Given the description of an element on the screen output the (x, y) to click on. 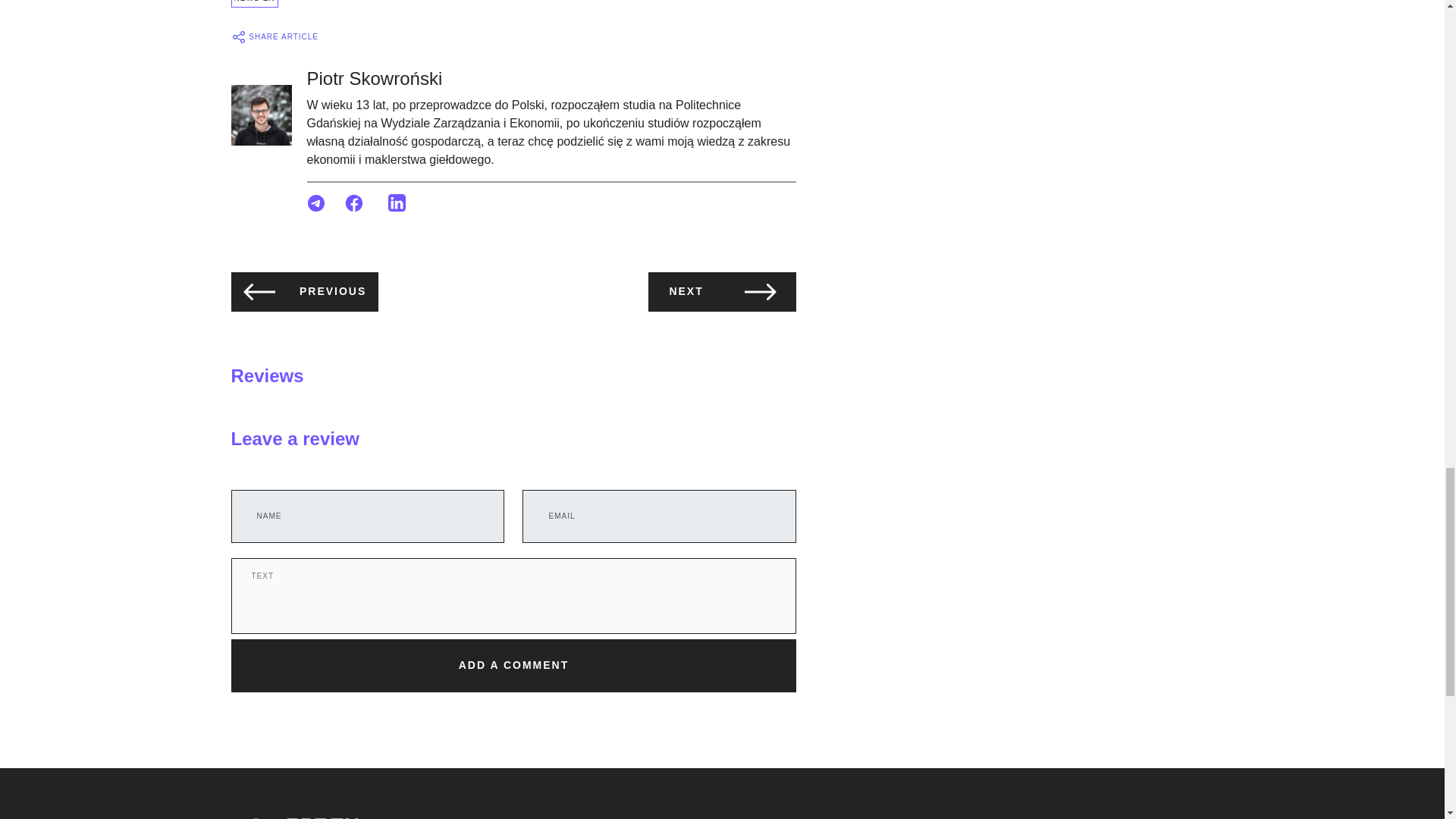
Linkedin (397, 202)
Add a comment (513, 665)
next (760, 291)
Add a comment (513, 665)
Facebook (354, 202)
BLOG (585, 818)
Telegram (316, 201)
PREVIOUS (304, 291)
prev (259, 291)
SHARE SHARE ARTICLE (274, 36)
